Given the description of an element on the screen output the (x, y) to click on. 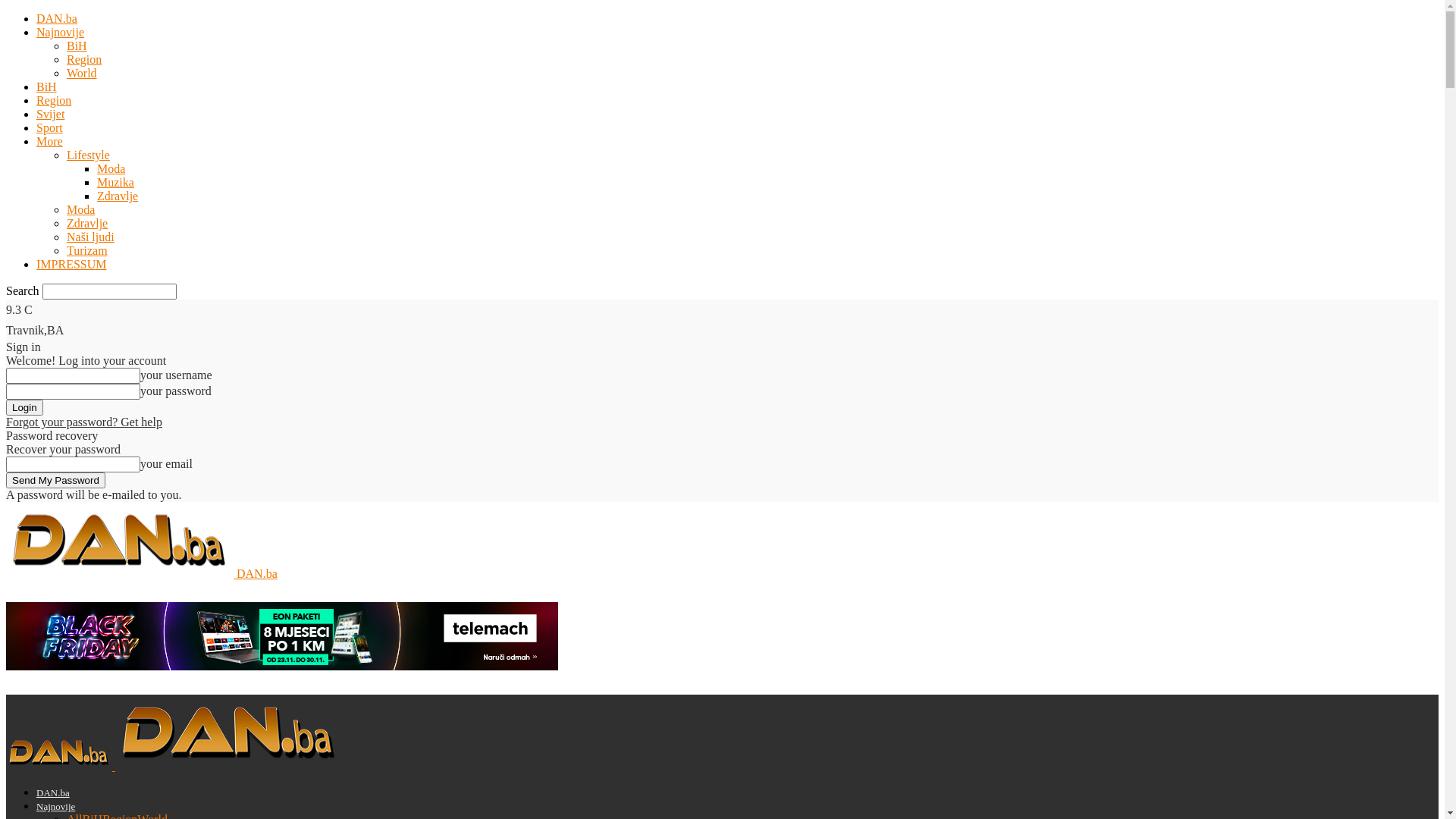
Region Element type: text (83, 59)
Sport Element type: text (49, 127)
Lifestyle Element type: text (87, 154)
Moda Element type: text (80, 209)
Moda Element type: text (111, 168)
More Element type: text (49, 140)
IMPRESSUM Element type: text (71, 263)
DAN.ba Element type: text (56, 18)
Zdravlje Element type: text (86, 222)
Svijet Element type: text (50, 113)
BiH Element type: text (76, 45)
Region Element type: text (53, 100)
DAN.ba Element type: text (52, 792)
Zdravlje Element type: text (117, 195)
Turizam Element type: text (86, 250)
Najnovije Element type: text (60, 31)
BiH Element type: text (46, 86)
Forgot your password? Get help Element type: text (84, 421)
Najnovije Element type: text (55, 806)
Muzika Element type: text (115, 181)
World Element type: text (81, 72)
DAN.ba Element type: text (141, 573)
